Given the description of an element on the screen output the (x, y) to click on. 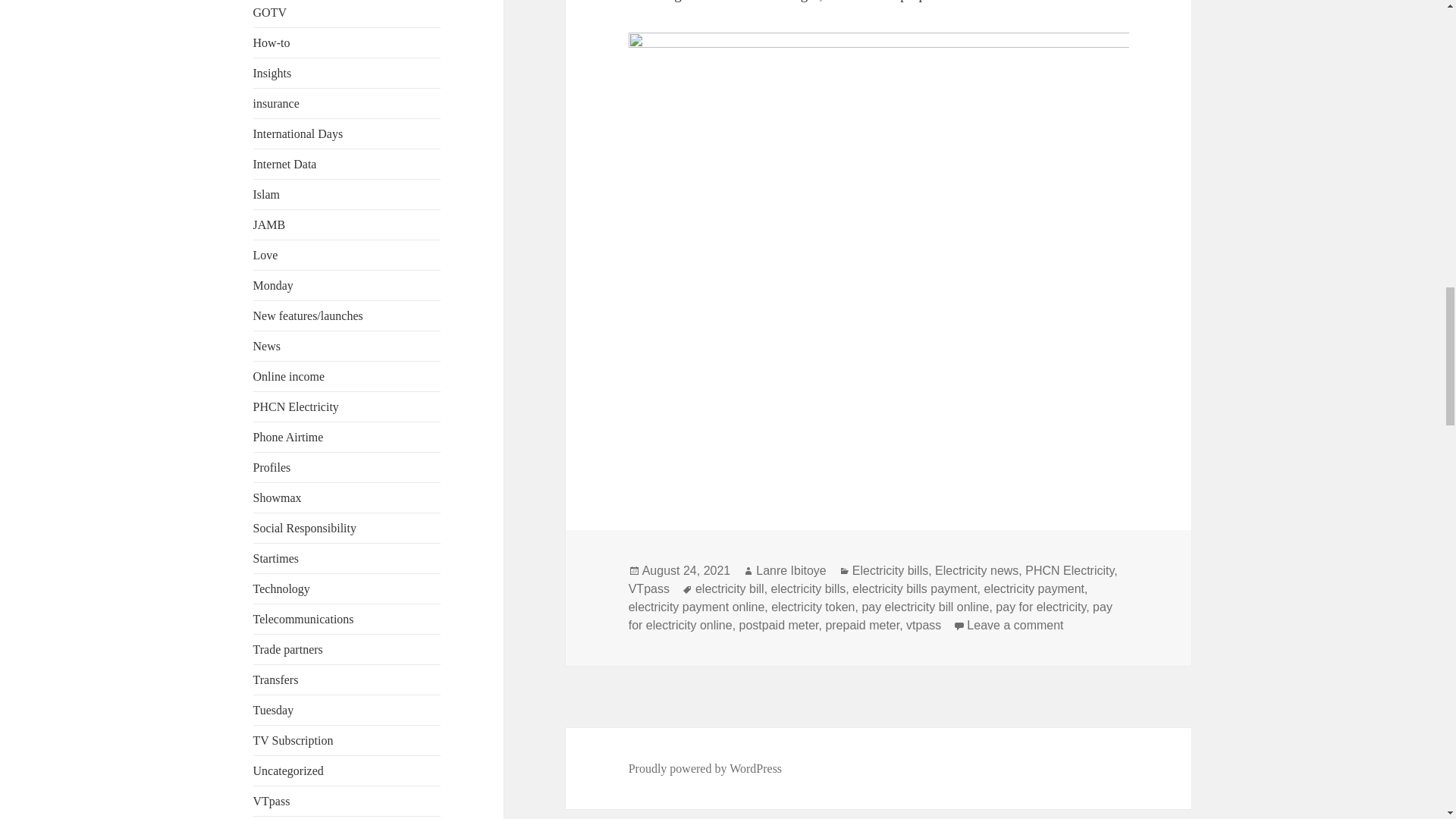
Internet Data (285, 164)
Islam (267, 194)
insurance (276, 103)
International Days (298, 133)
How-to (271, 42)
GOTV (269, 11)
Insights (272, 72)
